Given the description of an element on the screen output the (x, y) to click on. 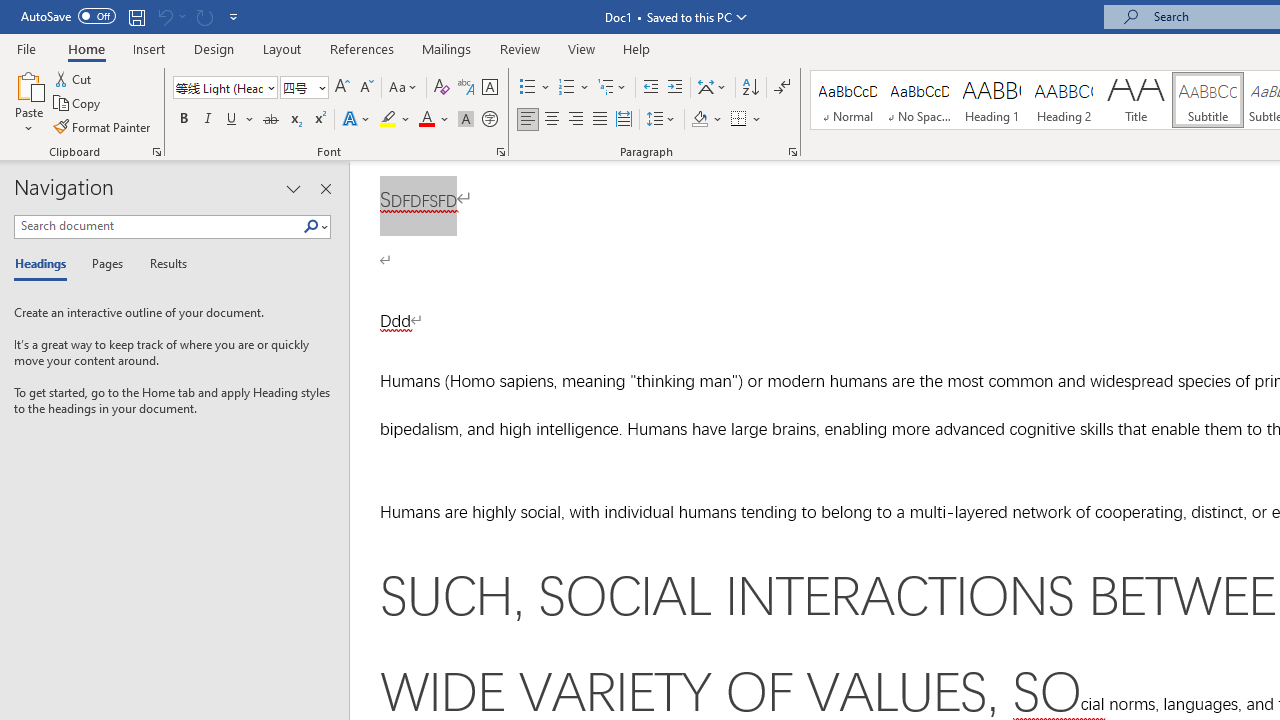
Text Highlight Color Yellow (388, 119)
Font Size (304, 87)
Superscript (319, 119)
Layout (282, 48)
Task Pane Options (293, 188)
Borders (746, 119)
Mailings (447, 48)
Bold (183, 119)
View (582, 48)
Paste (28, 84)
Phonetic Guide... (465, 87)
Shading RGB(0, 0, 0) (699, 119)
Grow Font (342, 87)
Center (552, 119)
Multilevel List (613, 87)
